Given the description of an element on the screen output the (x, y) to click on. 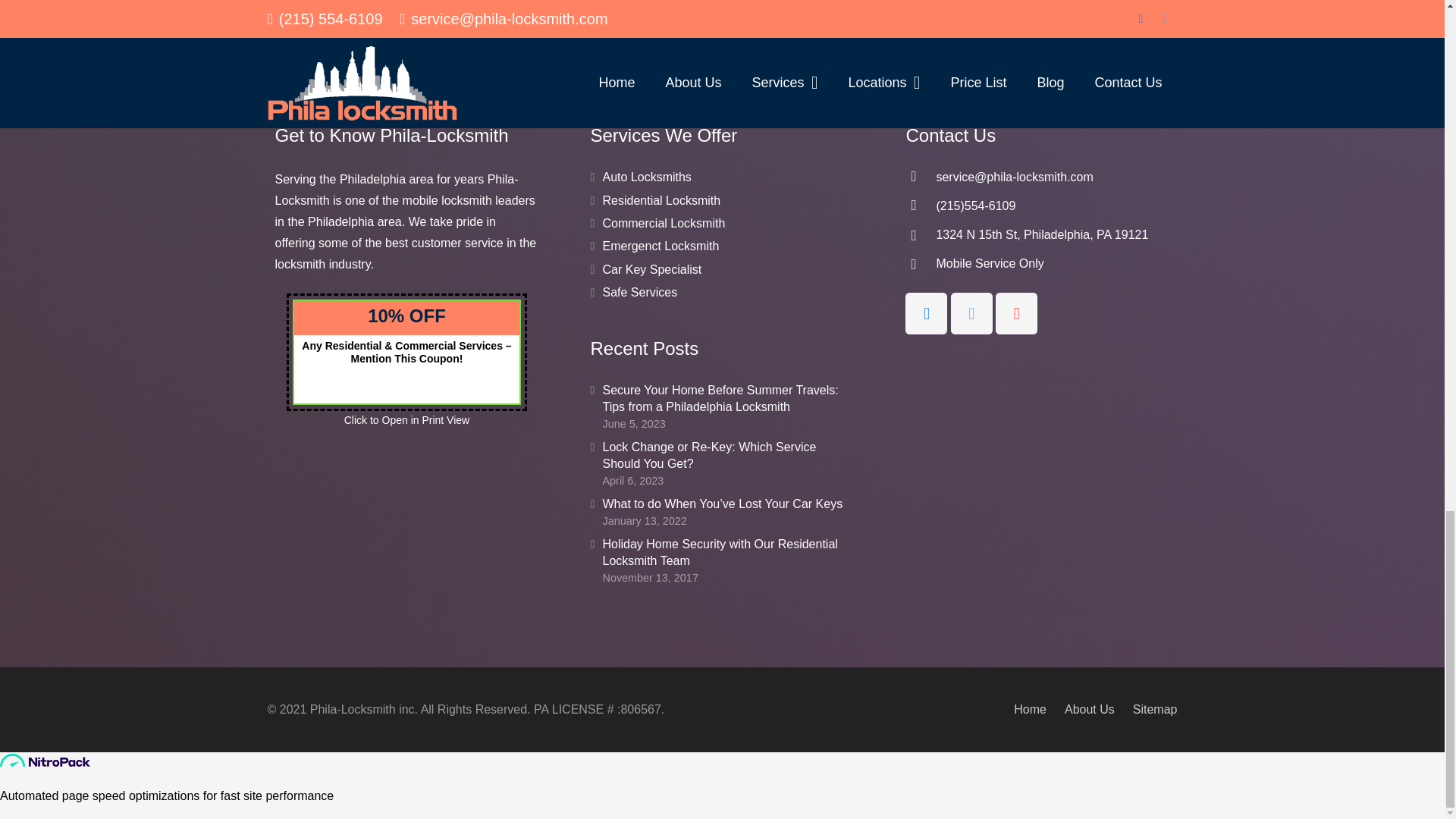
Google (1015, 380)
Facebook (926, 380)
Twitter (971, 380)
